Given the description of an element on the screen output the (x, y) to click on. 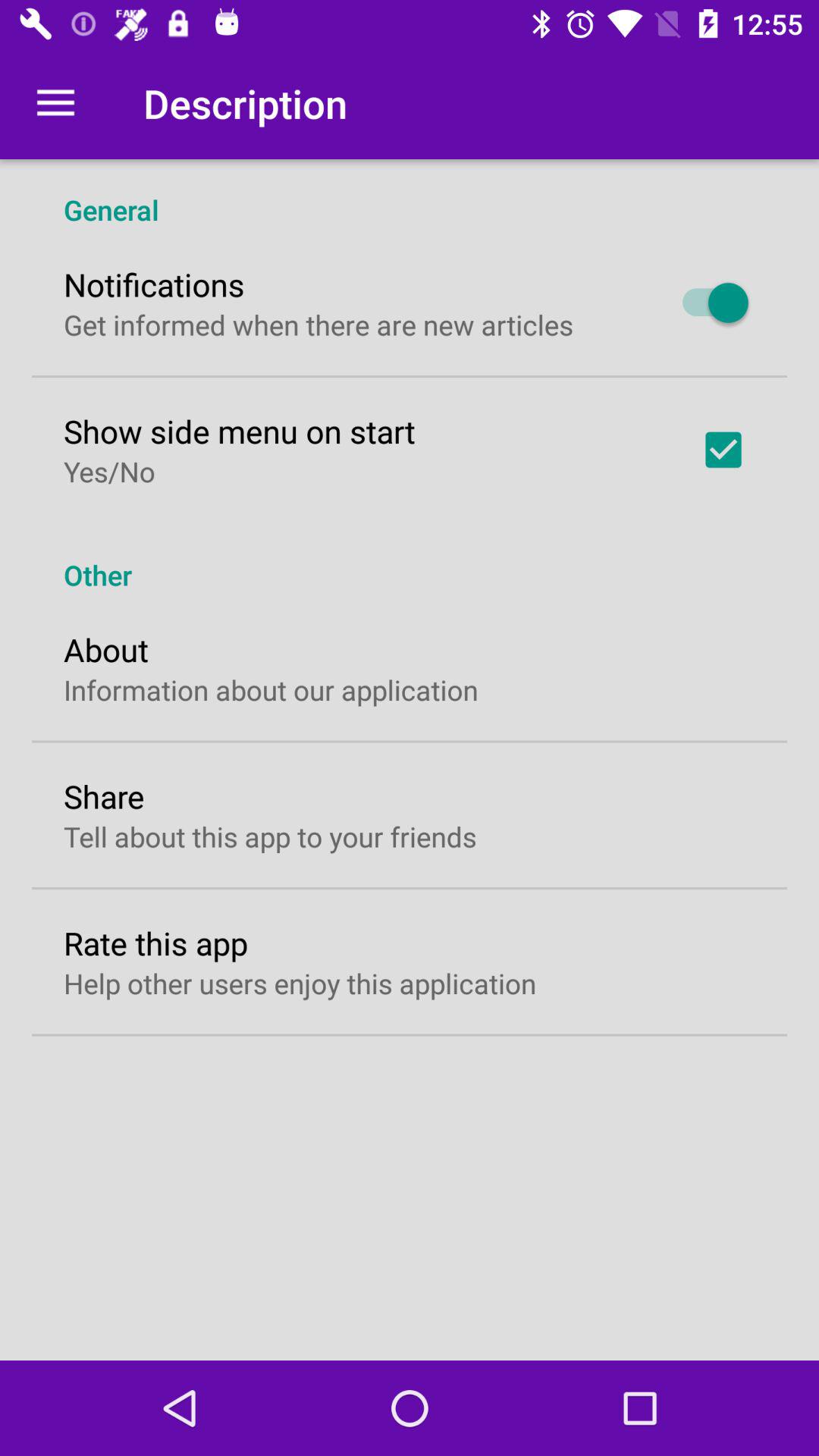
jump until the notifications (153, 283)
